Given the description of an element on the screen output the (x, y) to click on. 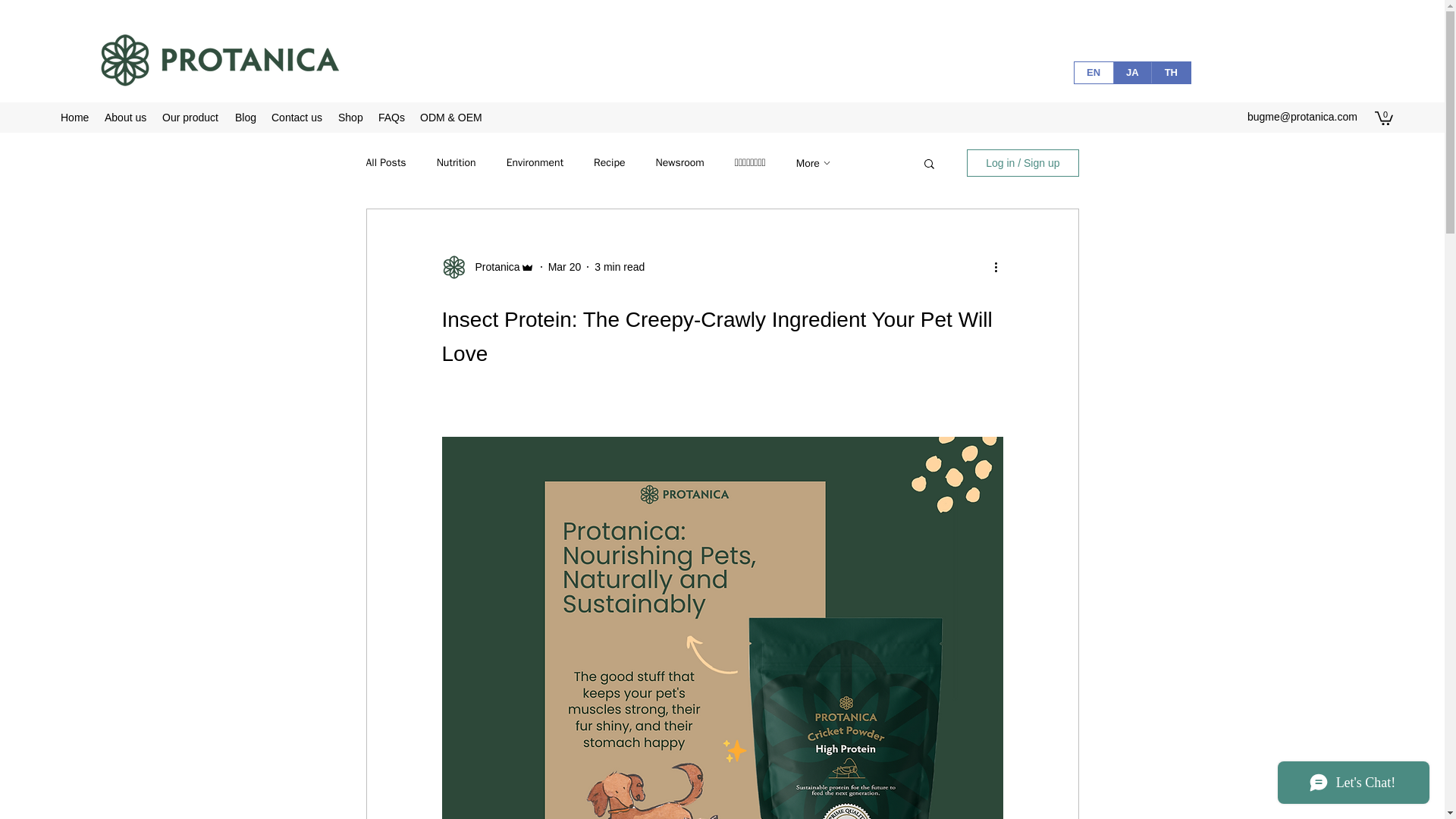
TH (1170, 72)
Mar 20 (564, 266)
Recipe (609, 162)
JA (1132, 72)
Contact us (296, 117)
0 (1383, 117)
Nutrition (456, 162)
Protanica (492, 267)
Our product (190, 117)
About us (125, 117)
Blog (245, 117)
Environment (534, 162)
EN (1093, 72)
FAQs (391, 117)
Newsroom (679, 162)
